Given the description of an element on the screen output the (x, y) to click on. 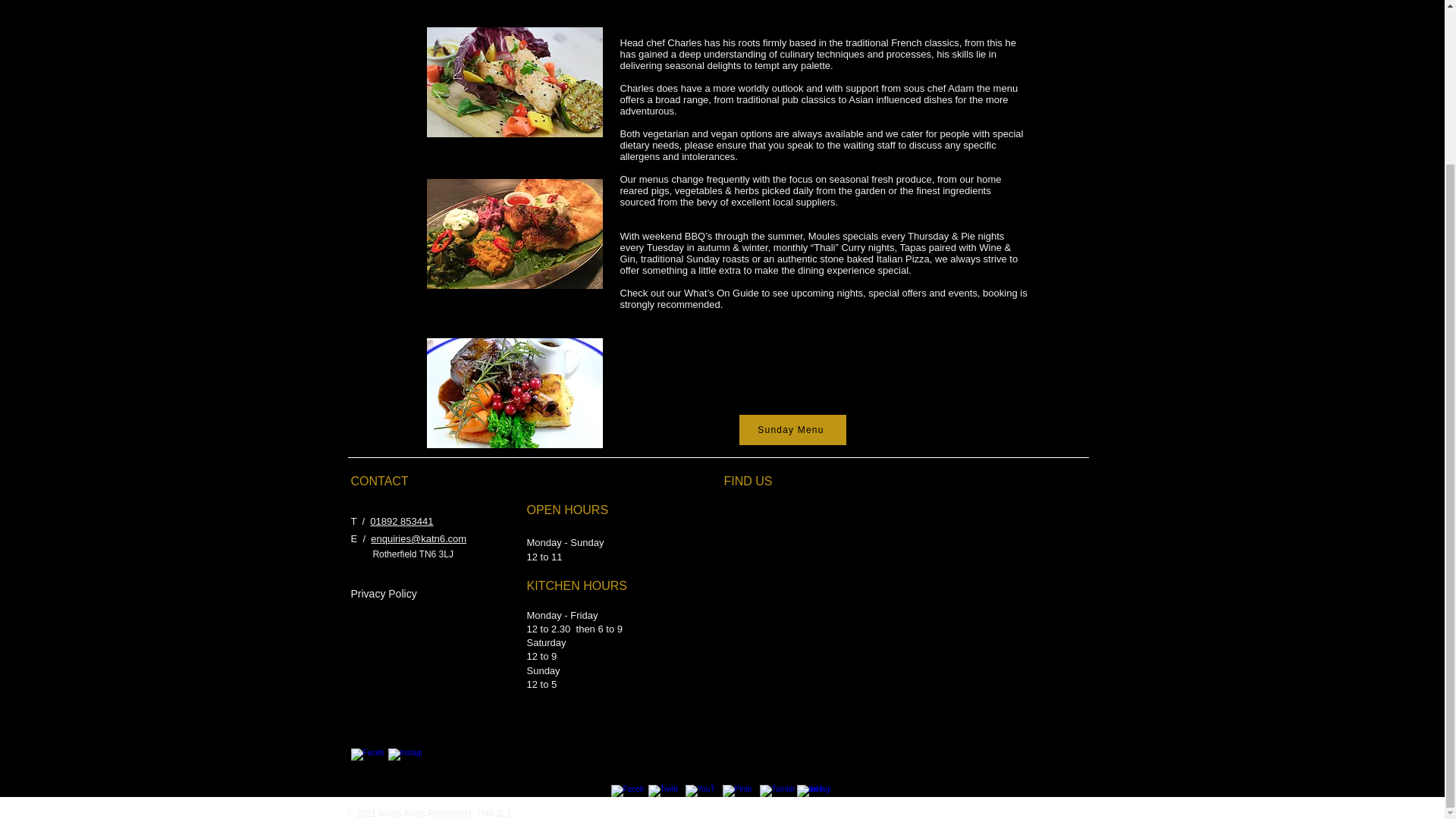
Sunday Menu (791, 429)
01892 853441 (400, 521)
Rotherfield TN6 3LJ (412, 553)
Privacy Policy (383, 593)
